Given the description of an element on the screen output the (x, y) to click on. 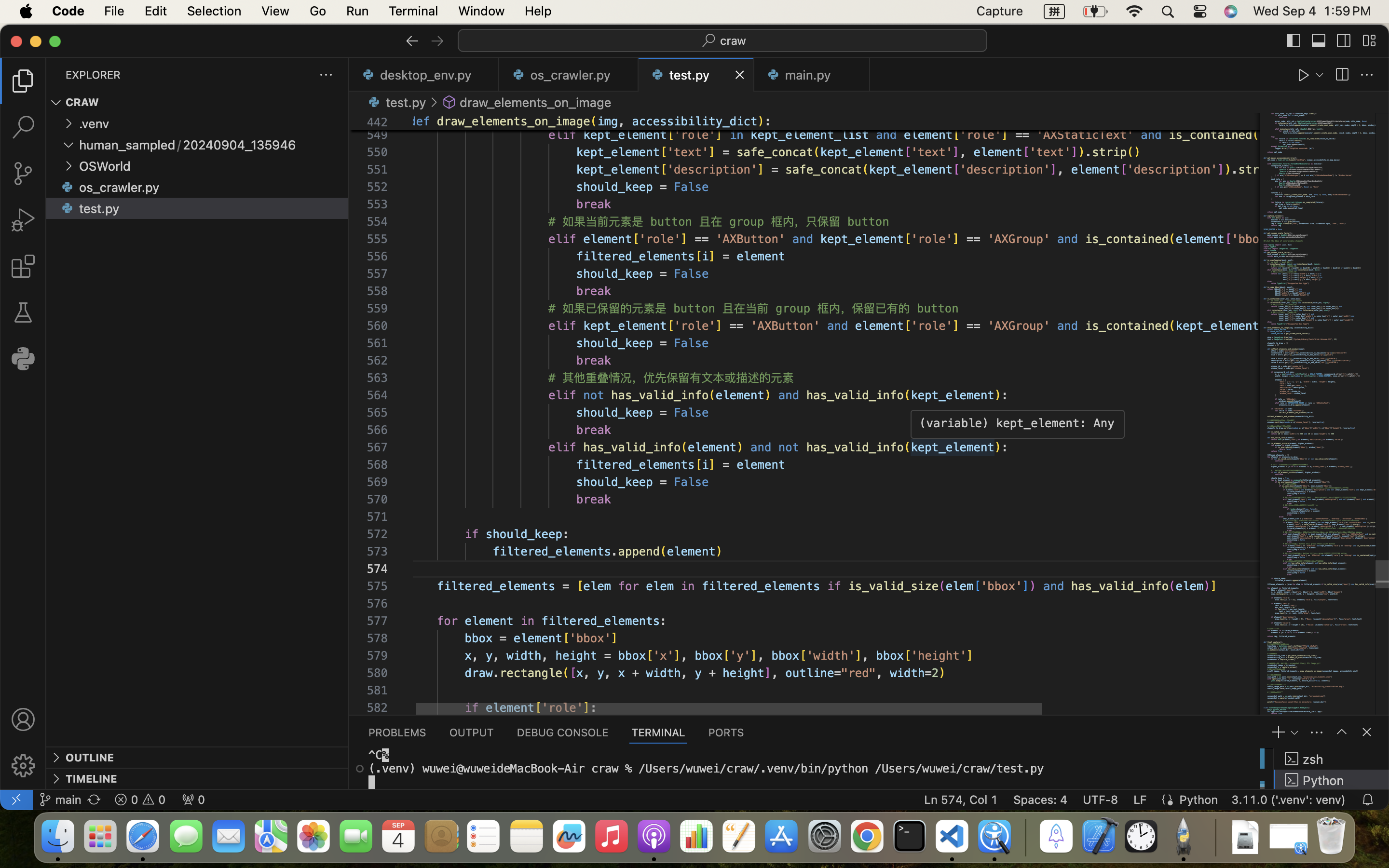
1  Element type: AXRadioButton (23, 80)
 Element type: AXButton (437, 40)
 Element type: AXGroup (23, 765)
 Element type: AXButton (1341, 74)
442 Element type: AXStaticText (376, 122)
